Given the description of an element on the screen output the (x, y) to click on. 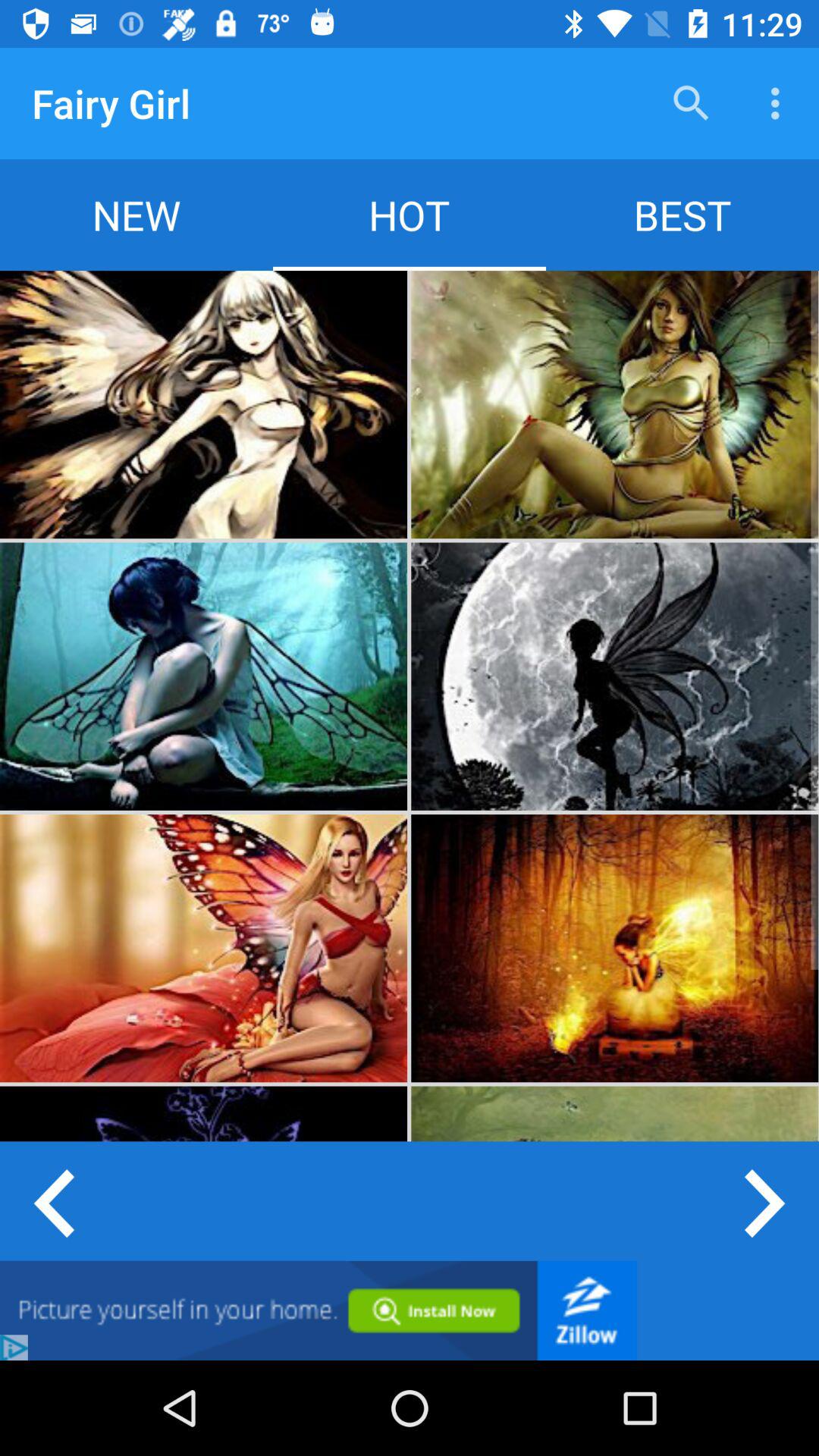
click the item above best item (691, 103)
